Given the description of an element on the screen output the (x, y) to click on. 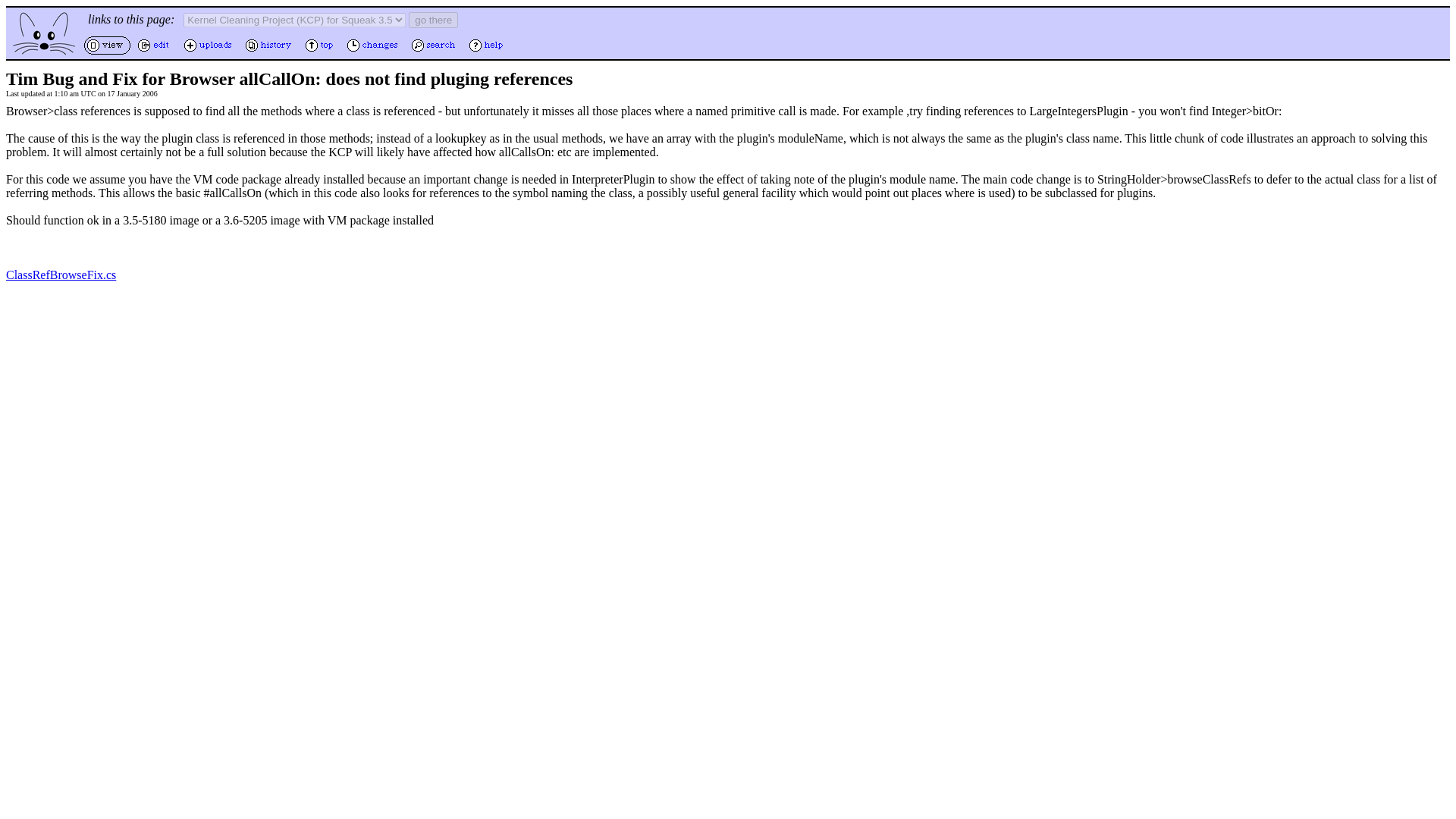
Search the Swiki (435, 51)
Top of the Swiki (320, 51)
Recent Changes (374, 51)
Uploads to this Page (209, 51)
go there (433, 19)
go there (433, 19)
Edit this Page (155, 51)
Help Guide (488, 51)
History of this Page (269, 51)
